Given the description of an element on the screen output the (x, y) to click on. 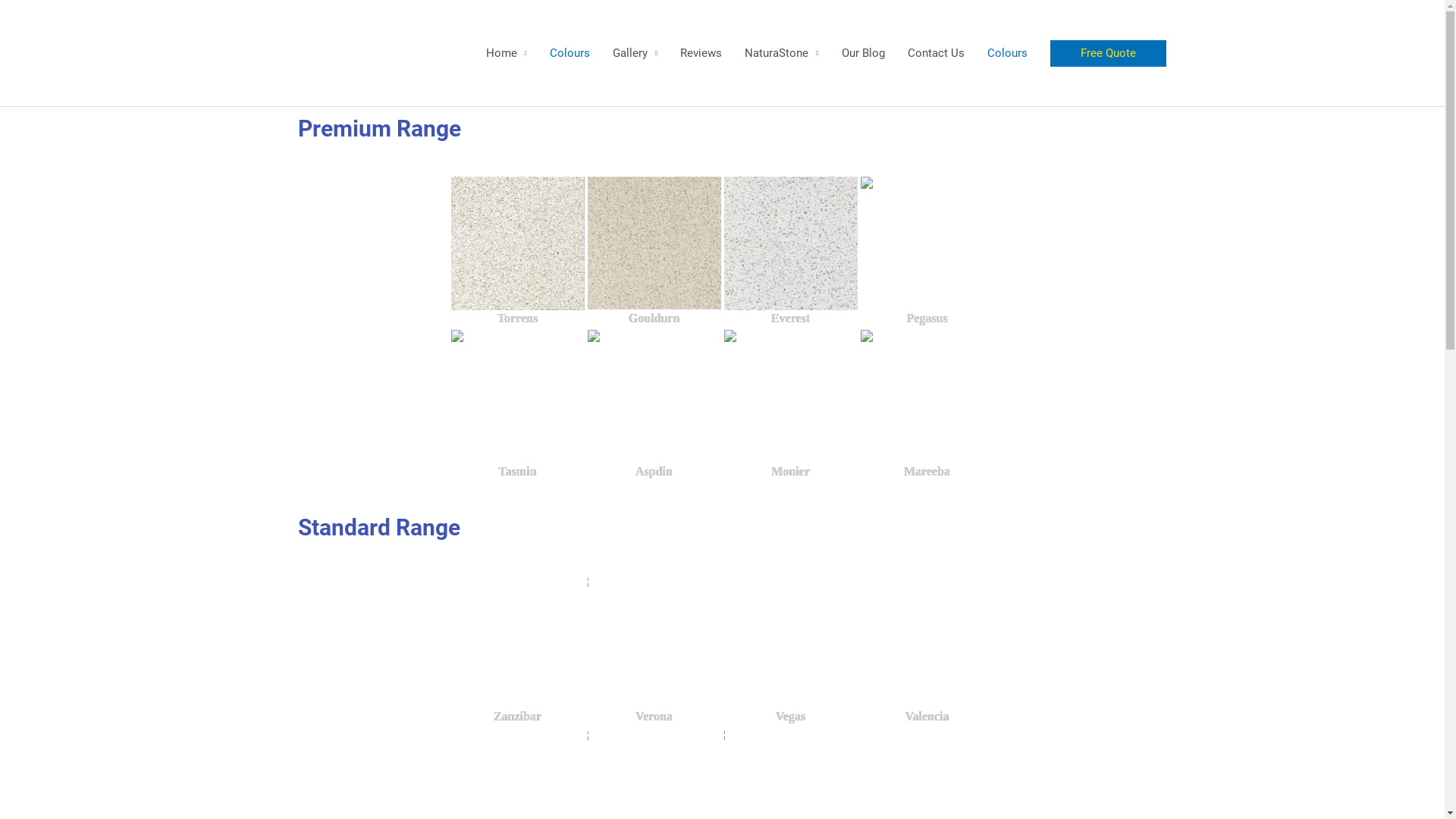
Contact Us Element type: text (935, 53)
Torrens Element type: hover (516, 242)
Free Quote Element type: text (1107, 52)
Our Blog Element type: text (862, 53)
Pegasus Element type: hover (865, 181)
Monier Element type: text (789, 404)
Gallery Element type: text (634, 53)
Tasmin Element type: hover (456, 335)
Tasmin Element type: text (516, 404)
Gouldurn Element type: text (653, 250)
Gouldurn Element type: hover (653, 242)
Reviews Element type: text (700, 53)
Mareeba Element type: text (926, 404)
Torino Element type: hover (718, 734)
Zanzibar Element type: text (516, 649)
Mareeba Element type: hover (865, 335)
Home Element type: text (506, 53)
Colours Element type: text (1006, 53)
Everest Element type: text (789, 250)
Aspdin Element type: text (653, 404)
Aspdin Element type: hover (592, 335)
Vegas Element type: text (789, 649)
Verona Element type: text (653, 649)
Verona Element type: hover (582, 580)
Pegasus Element type: text (926, 250)
Turin Element type: hover (582, 734)
Colours Element type: text (569, 53)
Everest Element type: hover (789, 242)
Torrens Element type: text (516, 250)
NaturaStone Element type: text (781, 53)
Monier Element type: hover (729, 335)
Valencia Element type: text (926, 649)
